Given the description of an element on the screen output the (x, y) to click on. 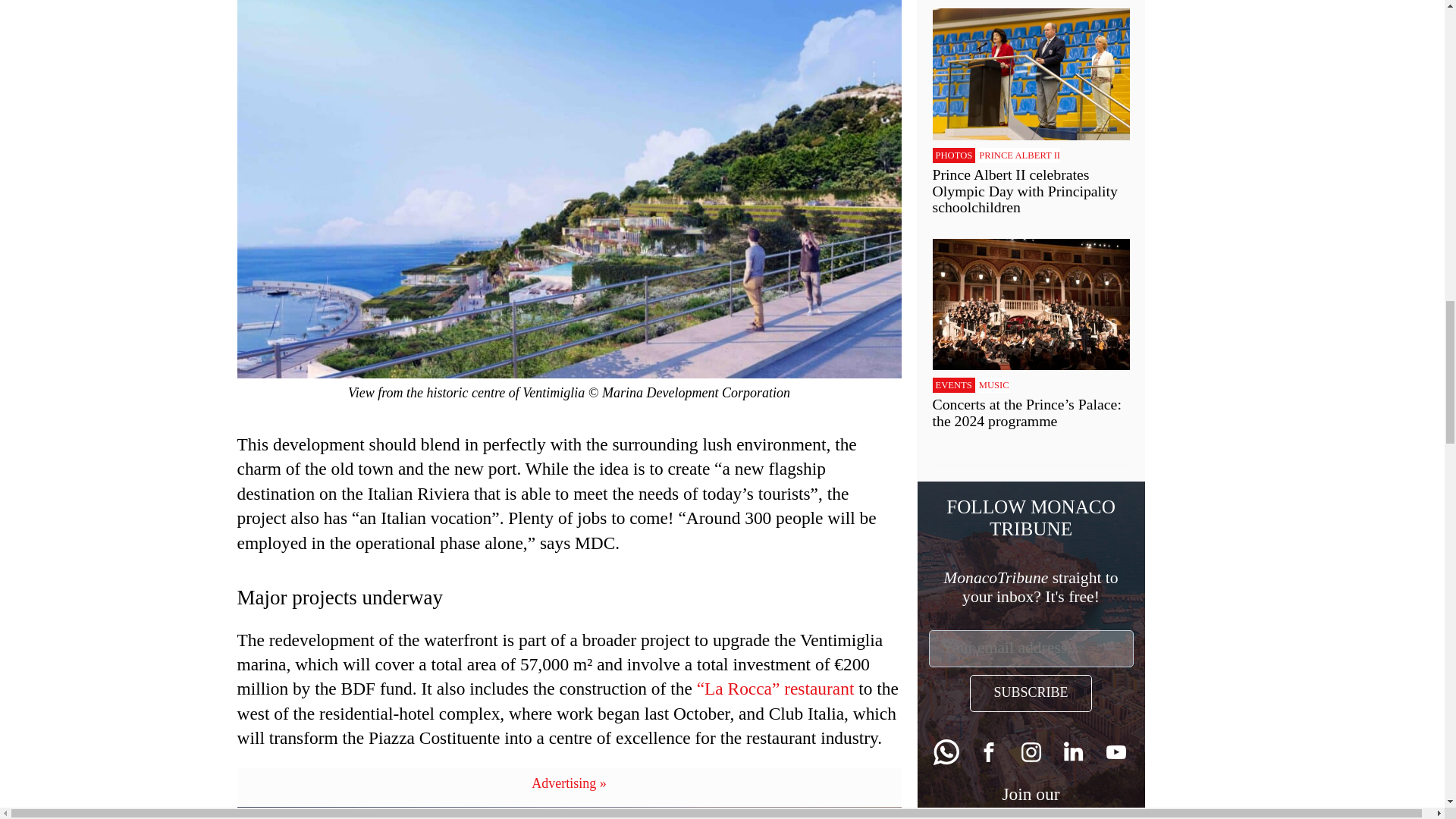
Subscribe (1029, 692)
